Given the description of an element on the screen output the (x, y) to click on. 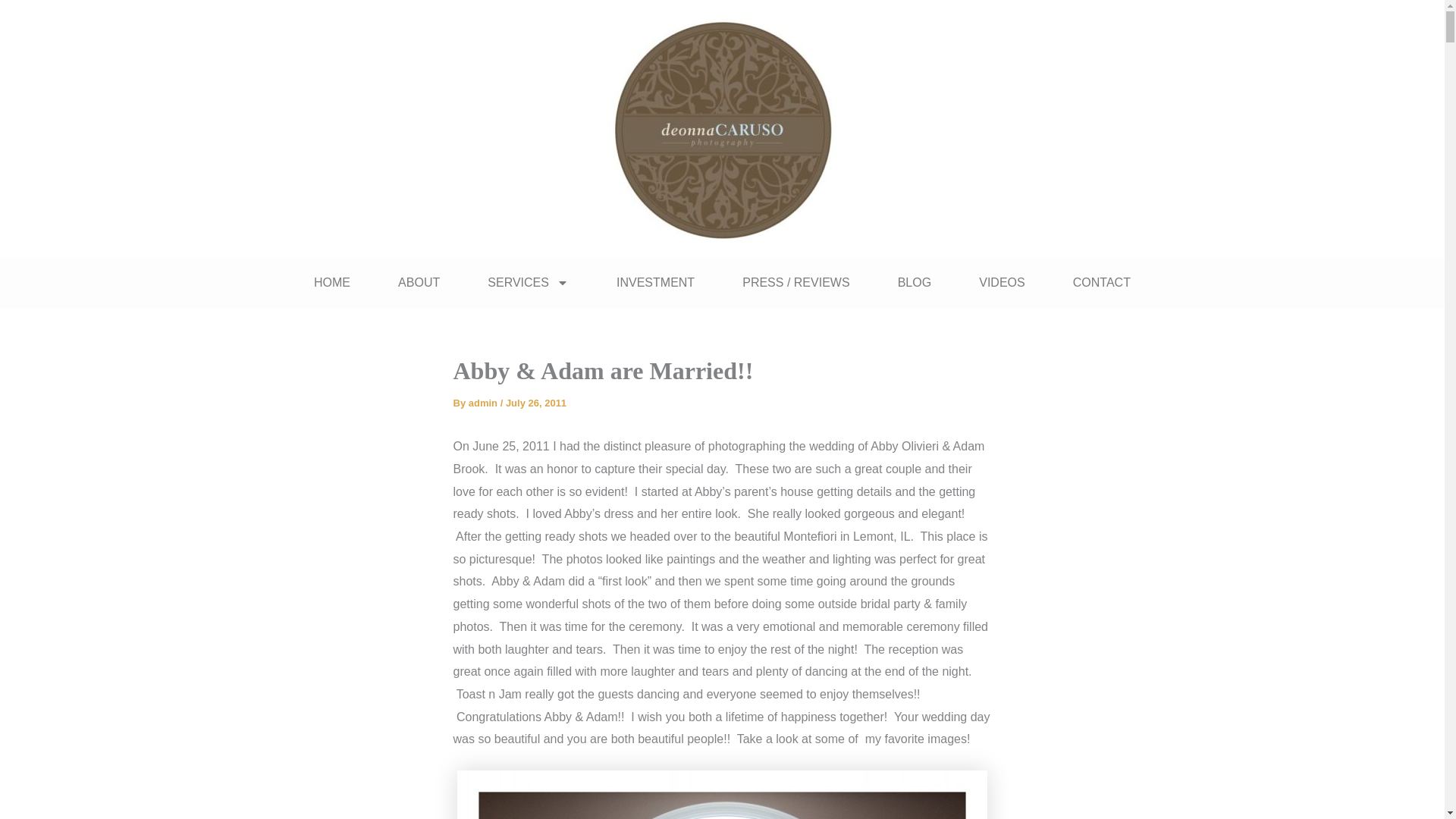
SERVICES (528, 282)
BLOG (914, 282)
admin (484, 402)
HOME (331, 282)
View all posts by admin (484, 402)
VIDEOS (1002, 282)
INVESTMENT (654, 282)
CONTACT (1101, 282)
ABOUT (419, 282)
